Given the description of an element on the screen output the (x, y) to click on. 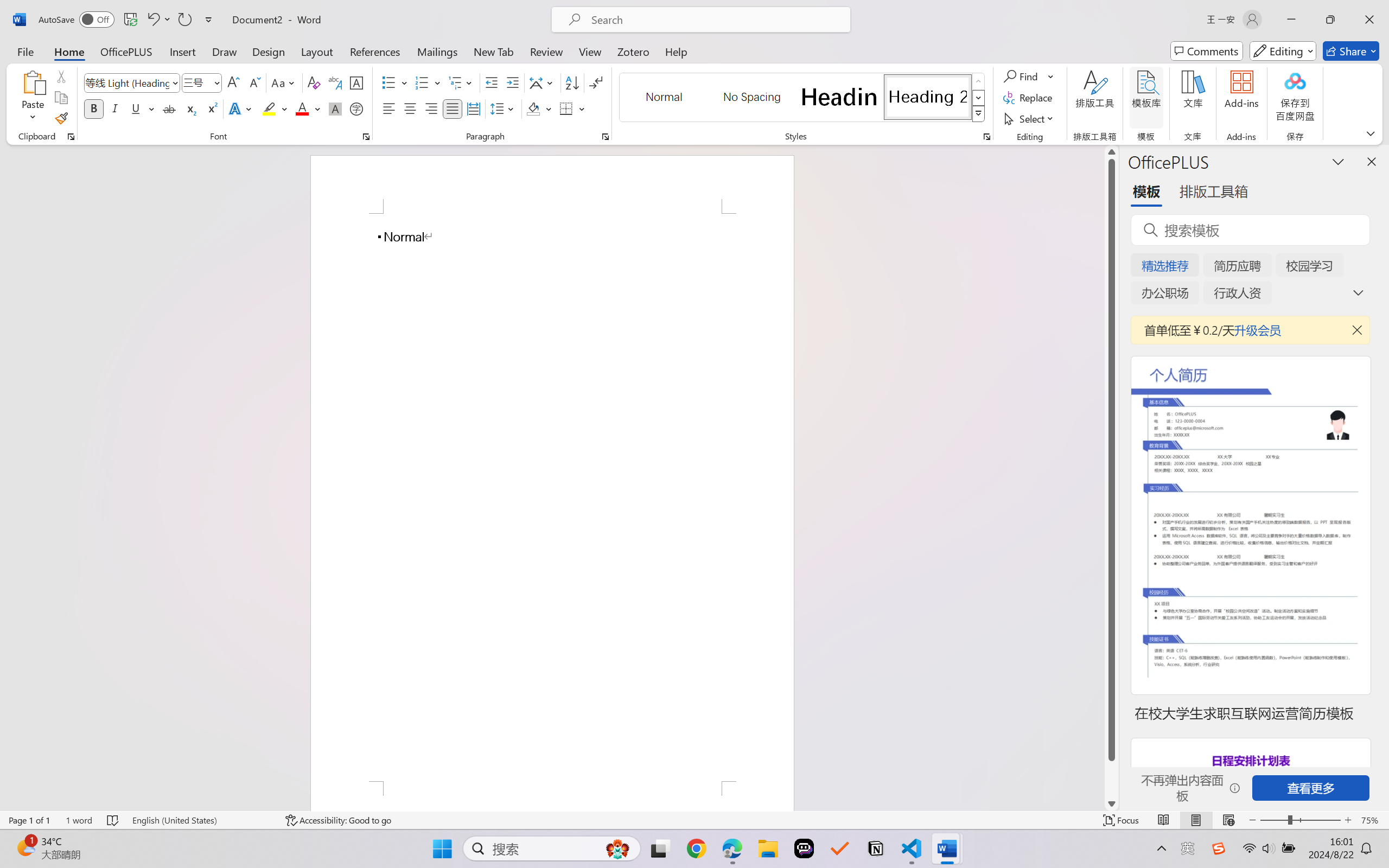
Class: NetUIImage (978, 114)
Insert (182, 51)
Font (126, 82)
Paste (33, 97)
Enclose Characters... (356, 108)
Quick Access Toolbar (127, 19)
Repeat Doc Close (184, 19)
Cut (60, 75)
Minimize (1291, 19)
Shading RGB(0, 0, 0) (533, 108)
Review (546, 51)
Font... (365, 136)
Copy (60, 97)
